Given the description of an element on the screen output the (x, y) to click on. 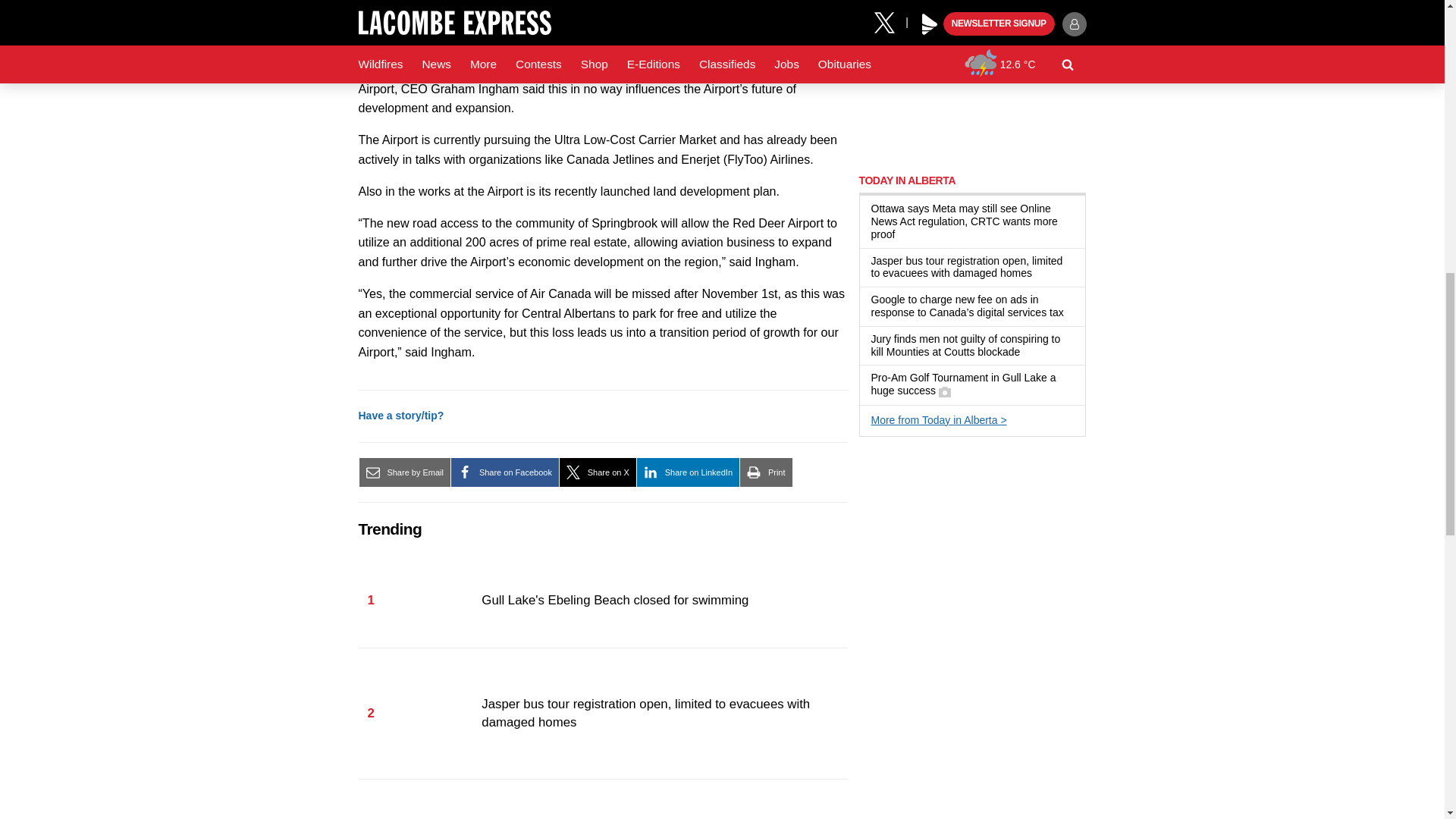
Has a gallery (944, 391)
